Given the description of an element on the screen output the (x, y) to click on. 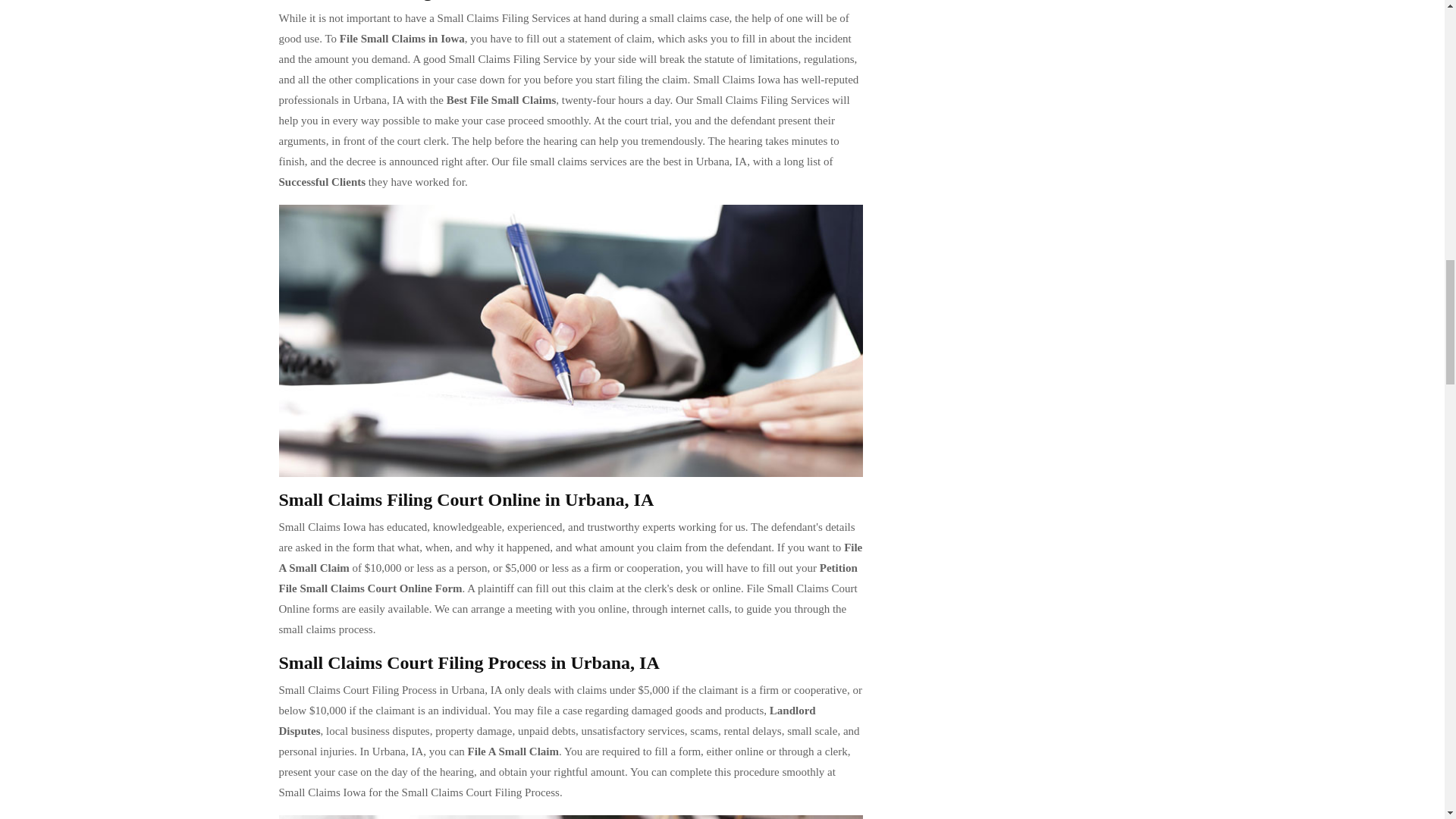
File Small Claims in Iowa (401, 38)
